Given the description of an element on the screen output the (x, y) to click on. 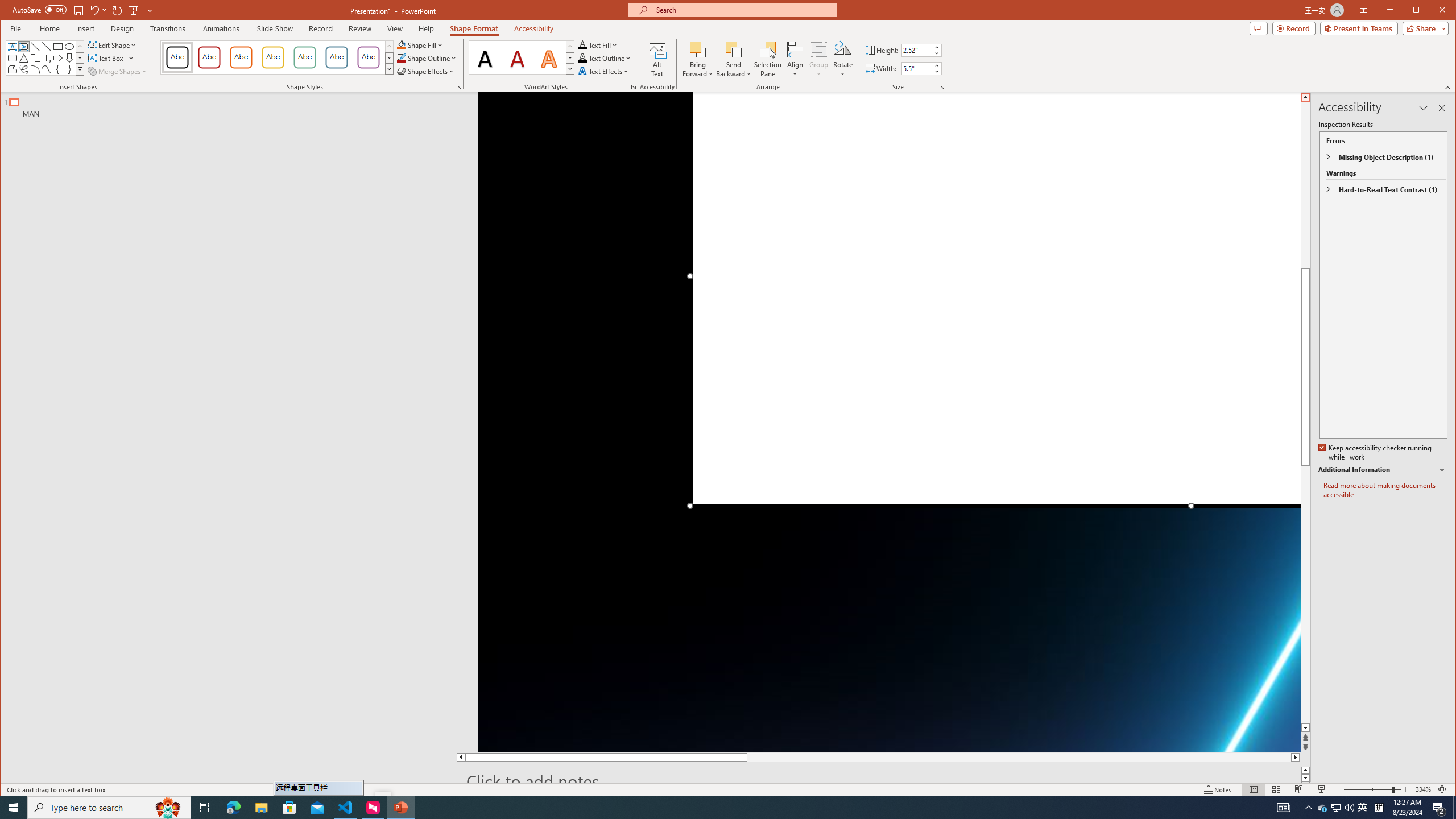
Action Center, 2 new notifications (1439, 807)
Outline (231, 104)
Text Fill RGB(0, 0, 0) (582, 44)
Shape Outline Blue, Accent 1 (400, 57)
Read more about making documents accessible (1385, 489)
